Given the description of an element on the screen output the (x, y) to click on. 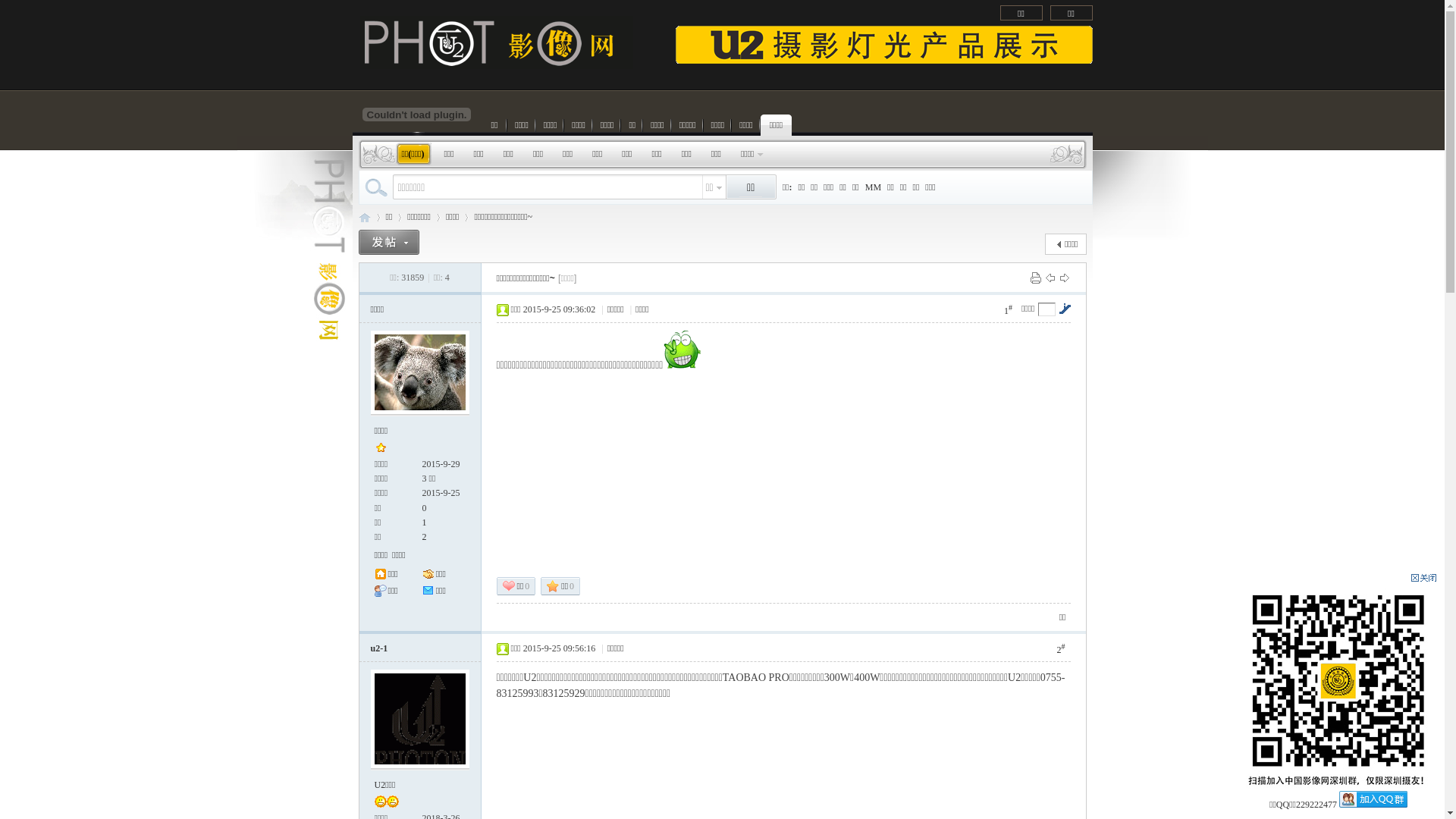
1# Element type: text (1007, 309)
u2-1 Element type: text (378, 648)
1 Element type: text (423, 522)
2# Element type: text (1060, 648)
MM Element type: text (873, 186)
2 Element type: text (423, 536)
